Given the description of an element on the screen output the (x, y) to click on. 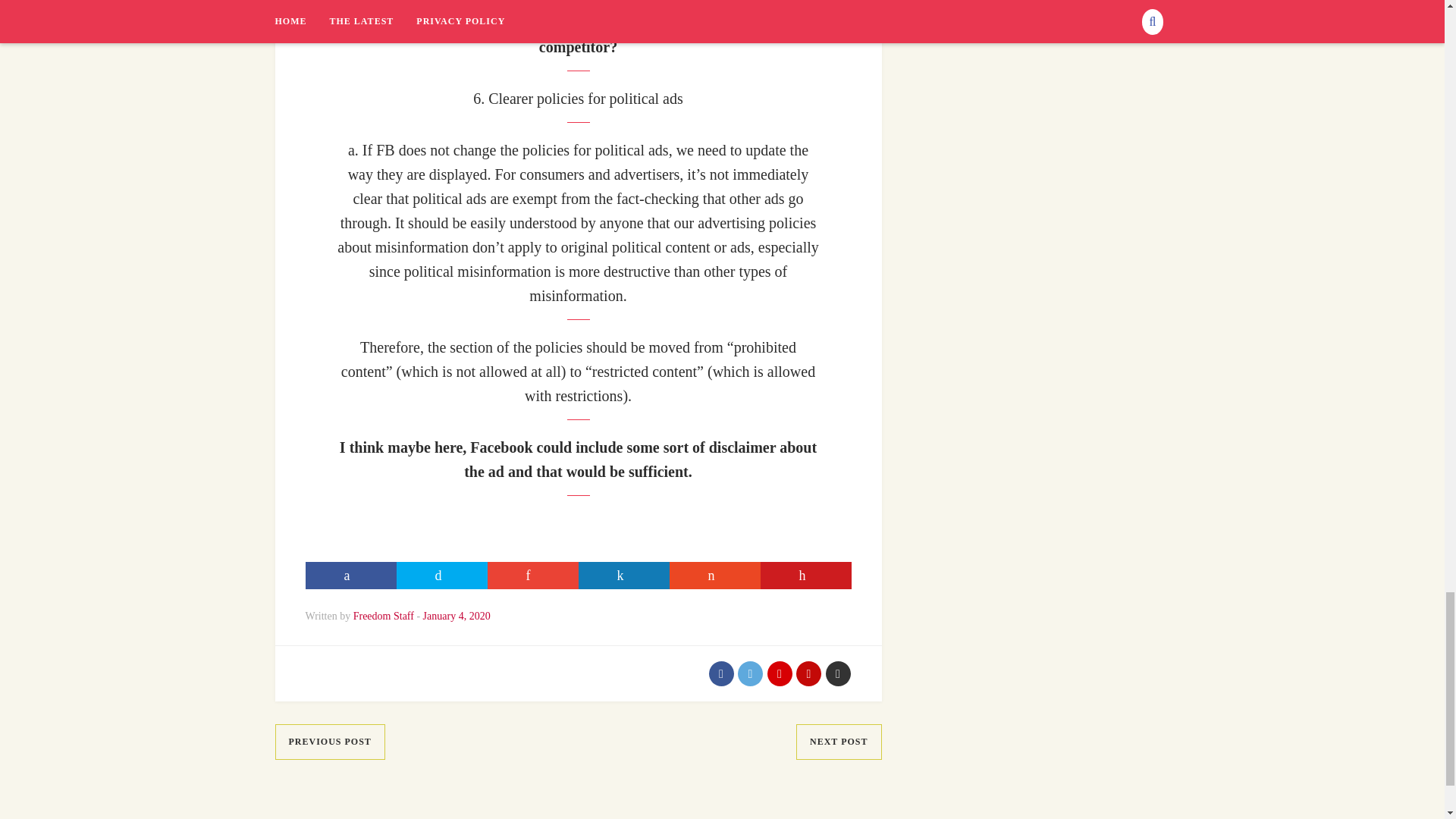
NEXT POST (838, 741)
PREVIOUS POST (329, 741)
